Given the description of an element on the screen output the (x, y) to click on. 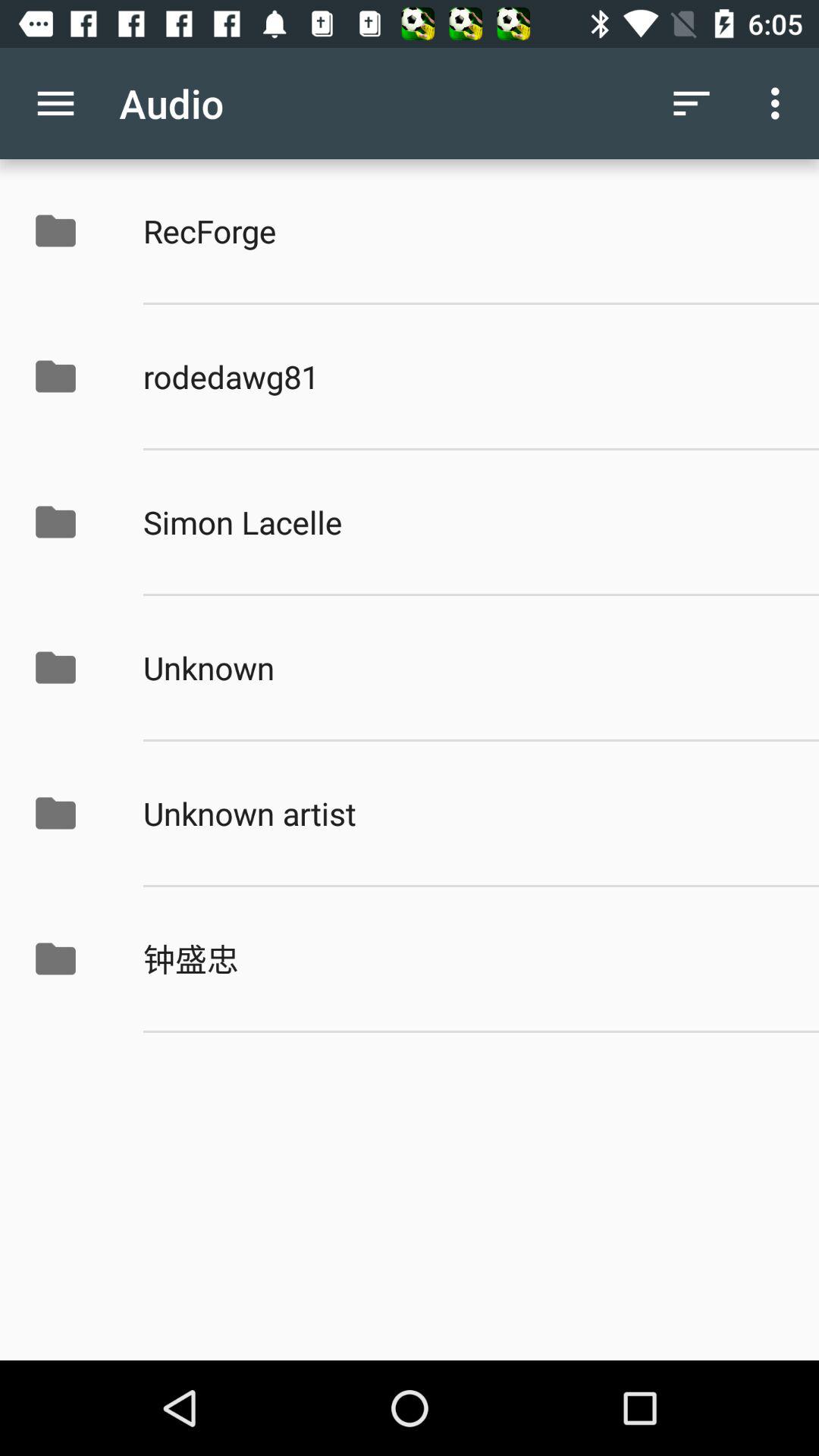
swipe until the unknown artist app (465, 812)
